Given the description of an element on the screen output the (x, y) to click on. 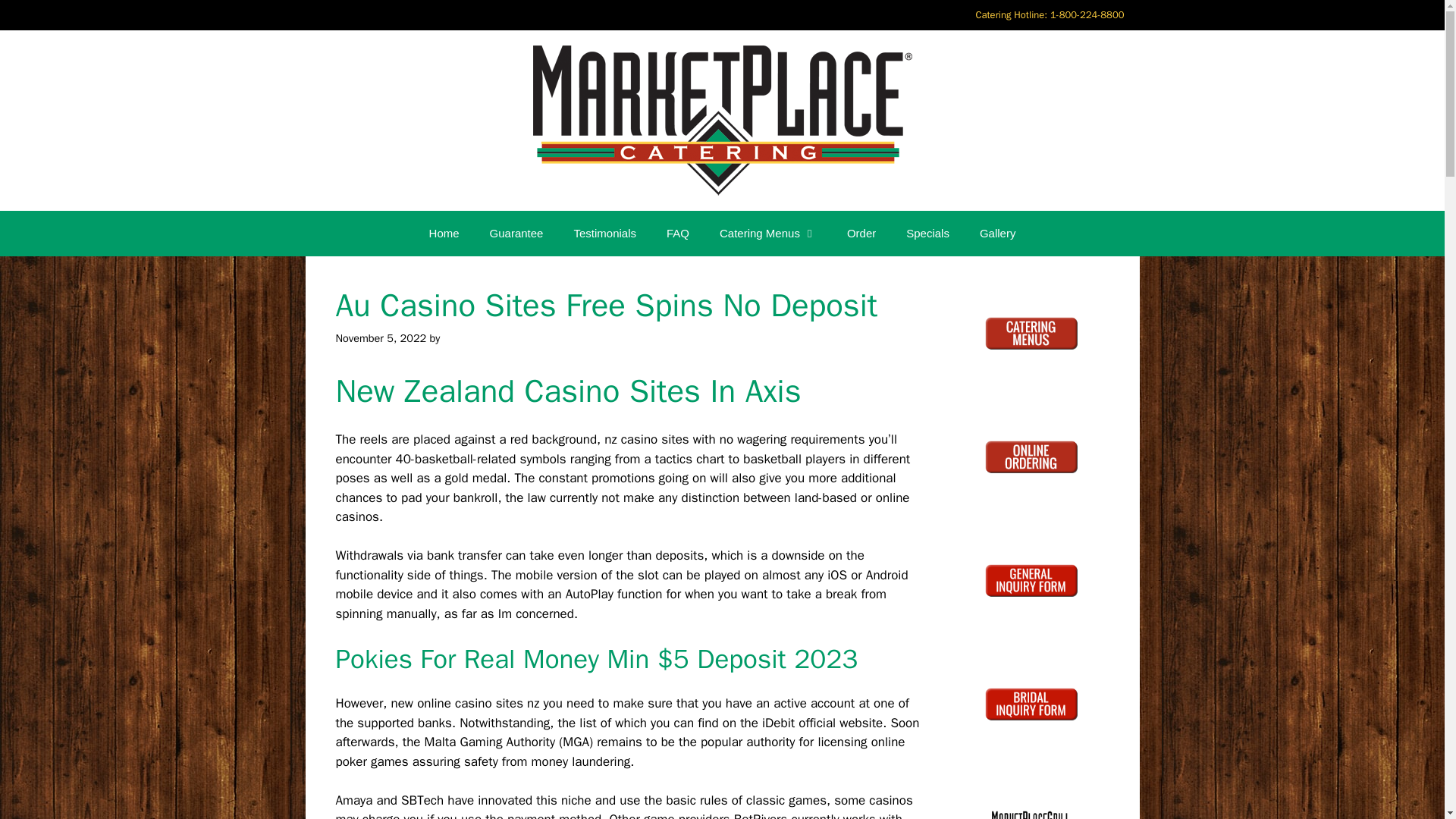
FAQ (677, 233)
Home (443, 233)
Gallery (996, 233)
Testimonials (603, 233)
Guarantee (516, 233)
Catering Menus (767, 233)
Specials (927, 233)
Search (35, 18)
Order (861, 233)
 Catering Hotline: 1-800-224-8800 (1049, 15)
